Given the description of an element on the screen output the (x, y) to click on. 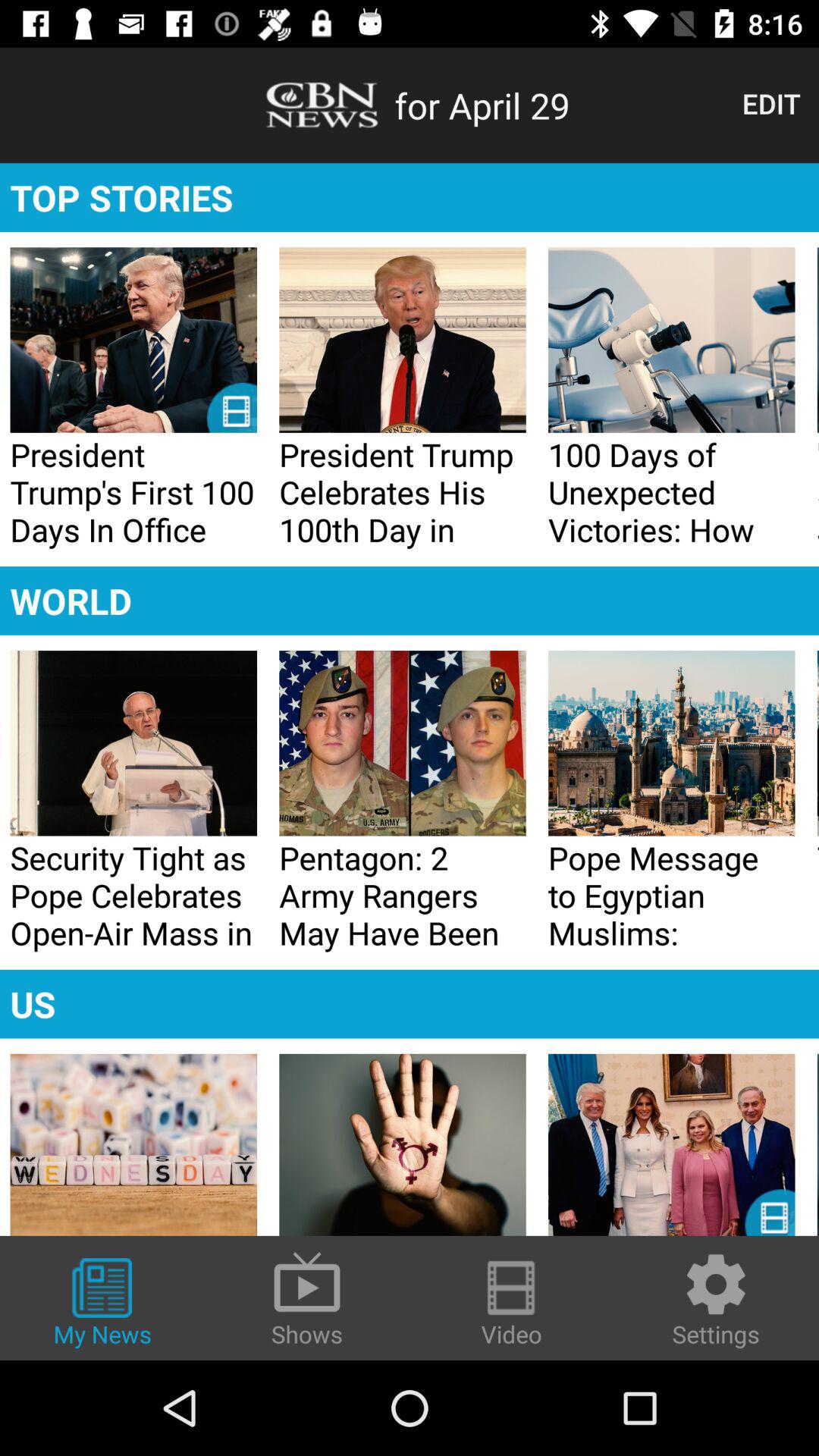
scroll to the edit item (771, 103)
